Given the description of an element on the screen output the (x, y) to click on. 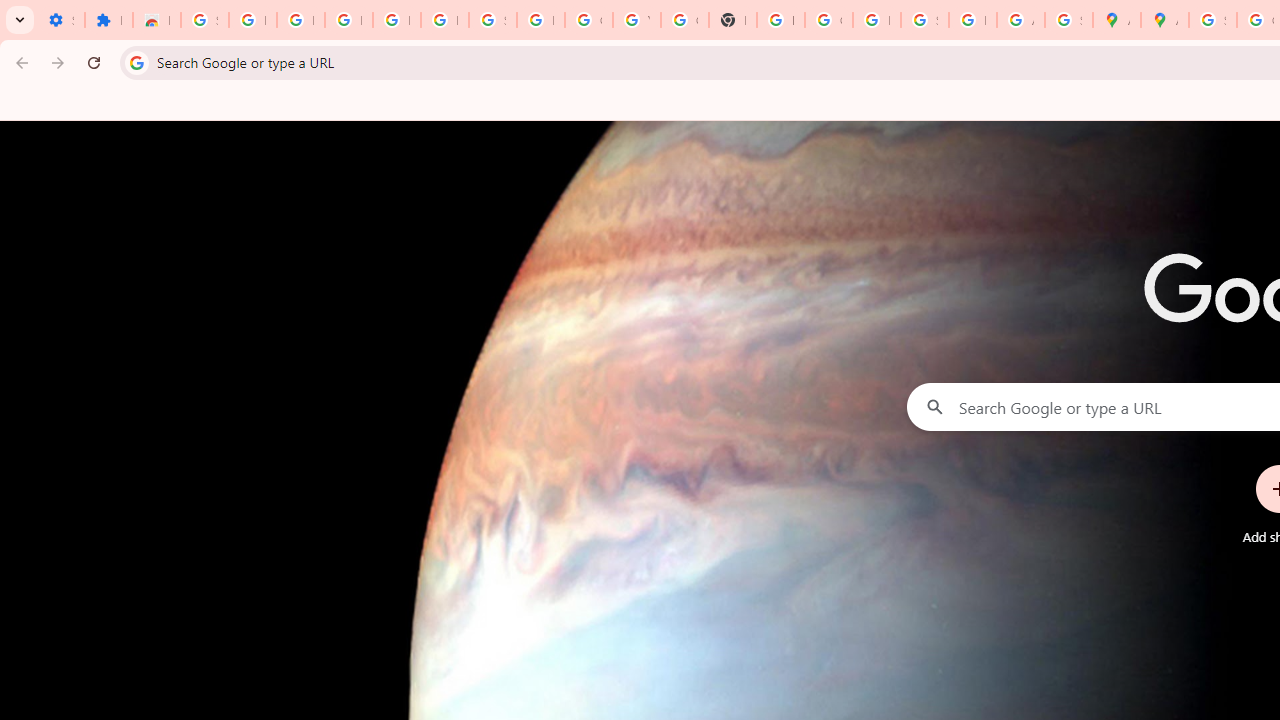
System (10, 11)
Forward (57, 62)
Delete photos & videos - Computer - Google Photos Help (348, 20)
Sign in - Google Accounts (924, 20)
Extensions (108, 20)
Safety in Our Products - Google Safety Center (1068, 20)
Reviews: Helix Fruit Jump Arcade Game (156, 20)
Reload (93, 62)
Search icon (136, 62)
Sign in - Google Accounts (204, 20)
